Given the description of an element on the screen output the (x, y) to click on. 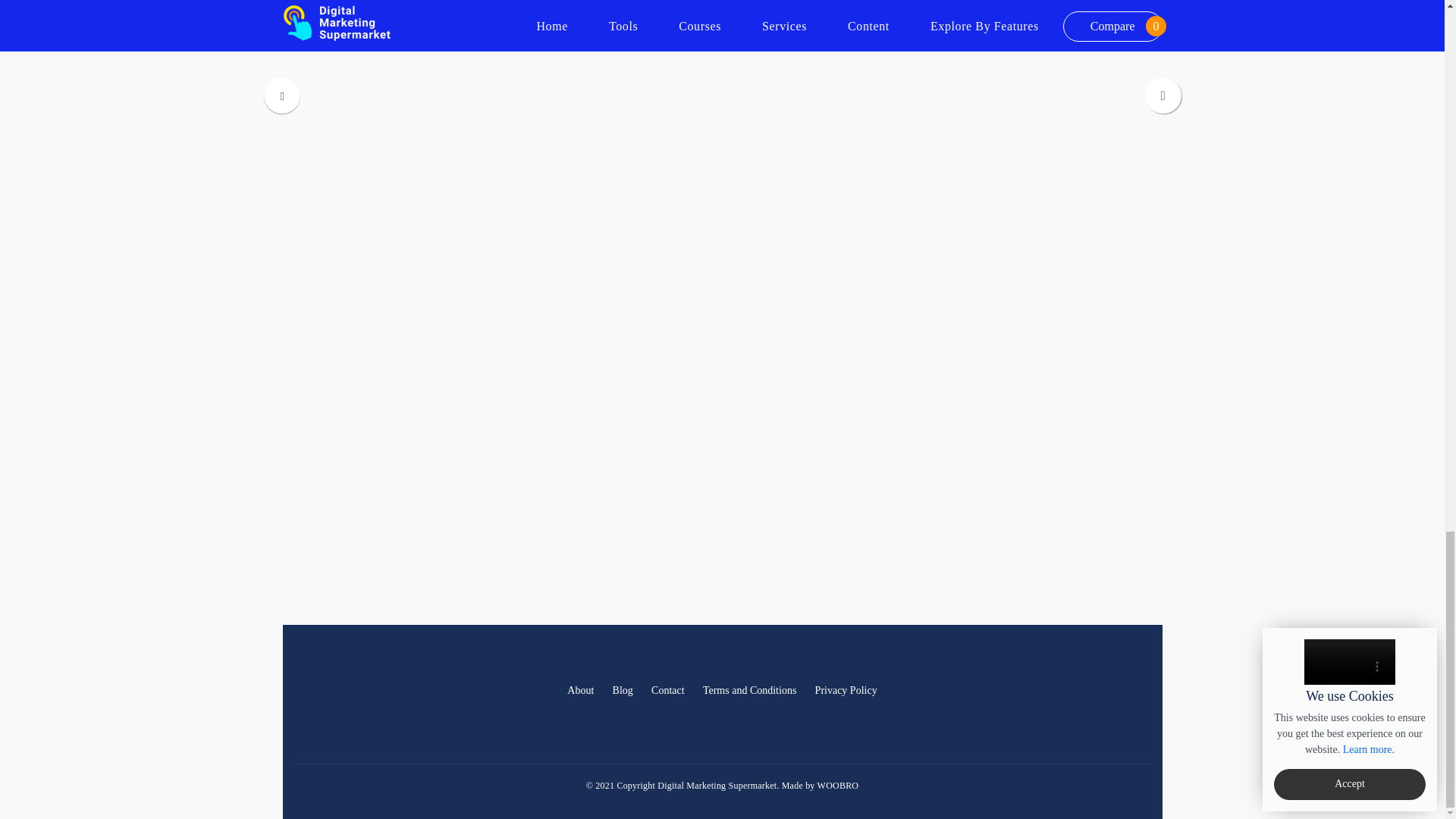
Contact (668, 691)
WordPress Agency London (837, 785)
Facebook (1069, 691)
LinkedIn (1102, 691)
About (580, 691)
Instagram (1136, 691)
Privacy Policy (846, 691)
Terms and Conditions (749, 691)
Digital Marketing Supermarket (339, 708)
Blog (622, 691)
